Given the description of an element on the screen output the (x, y) to click on. 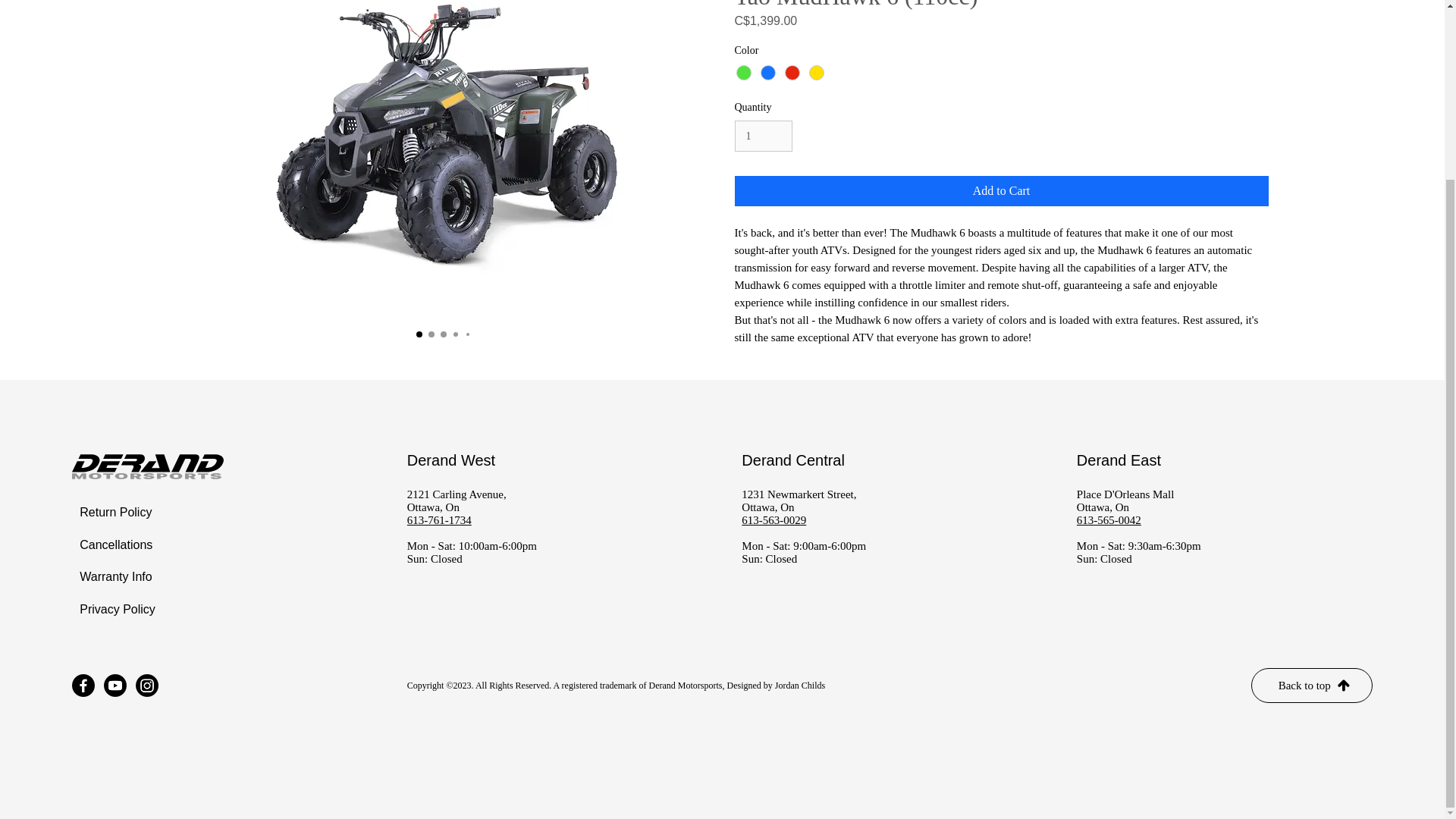
613-563-0029 (773, 520)
613-565-0042 (1109, 520)
1 (762, 135)
Warranty Info (125, 576)
Cancellations (125, 545)
Back to top (1311, 685)
Privacy Policy (125, 609)
613-761-1734 (439, 520)
Add to Cart (1000, 191)
Return Policy (125, 512)
